Given the description of an element on the screen output the (x, y) to click on. 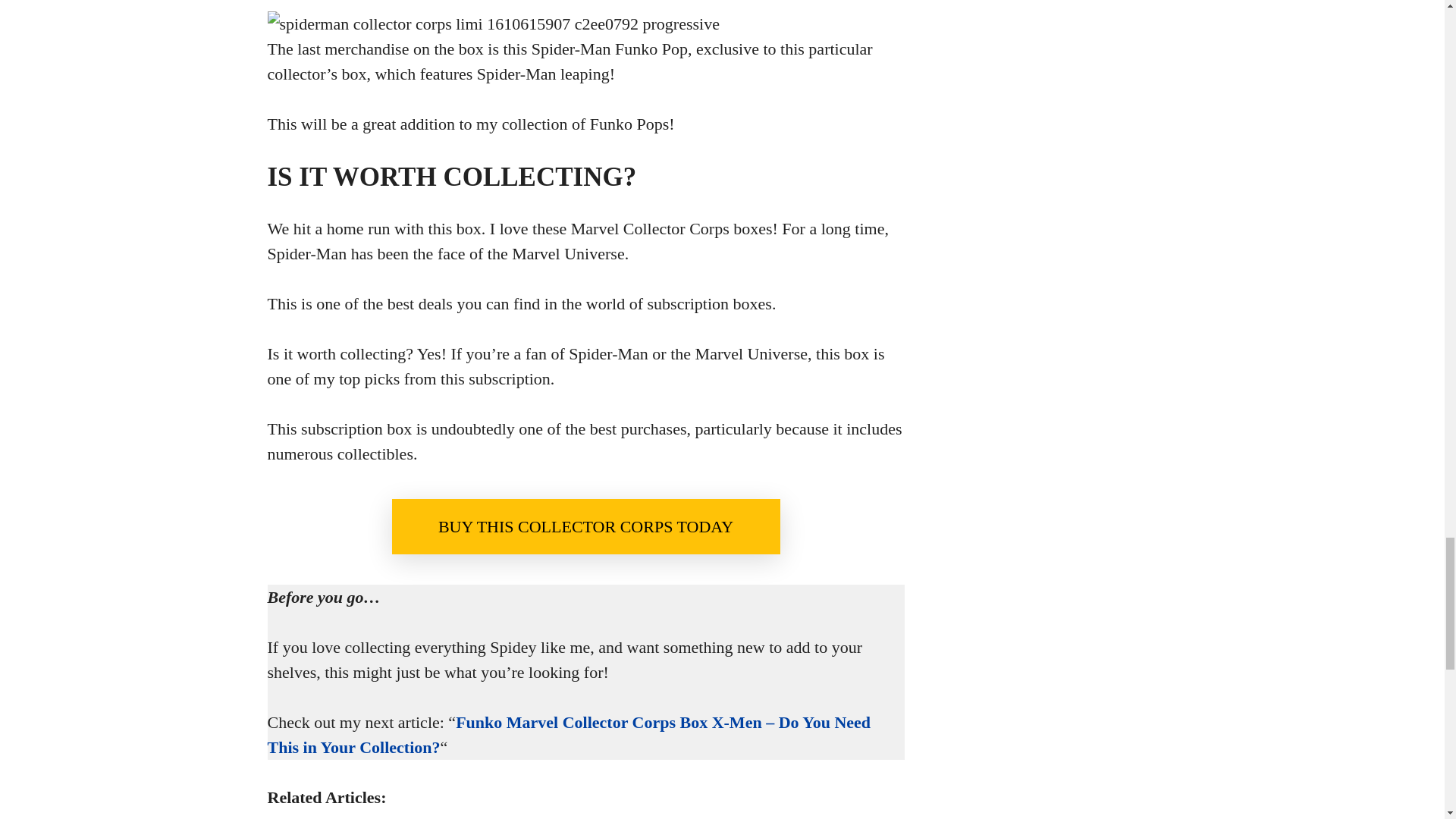
BUY THIS COLLECTOR CORPS TODAY (584, 526)
